Given the description of an element on the screen output the (x, y) to click on. 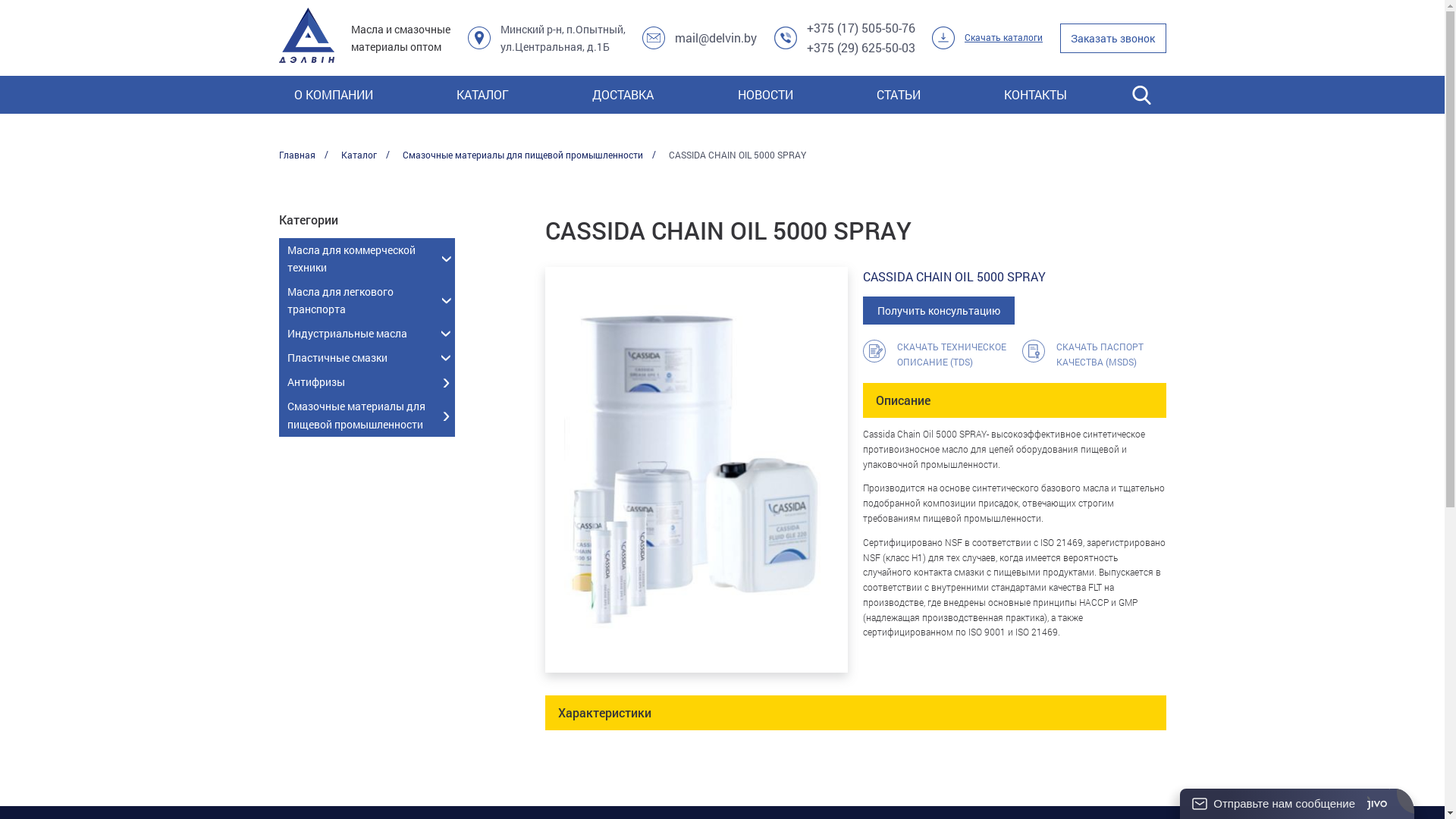
+375 (29) 625-50-03 Element type: text (860, 47)
+375 (17) 505-50-76 Element type: text (860, 27)
mail@delvin.by Element type: text (715, 37)
